Given the description of an element on the screen output the (x, y) to click on. 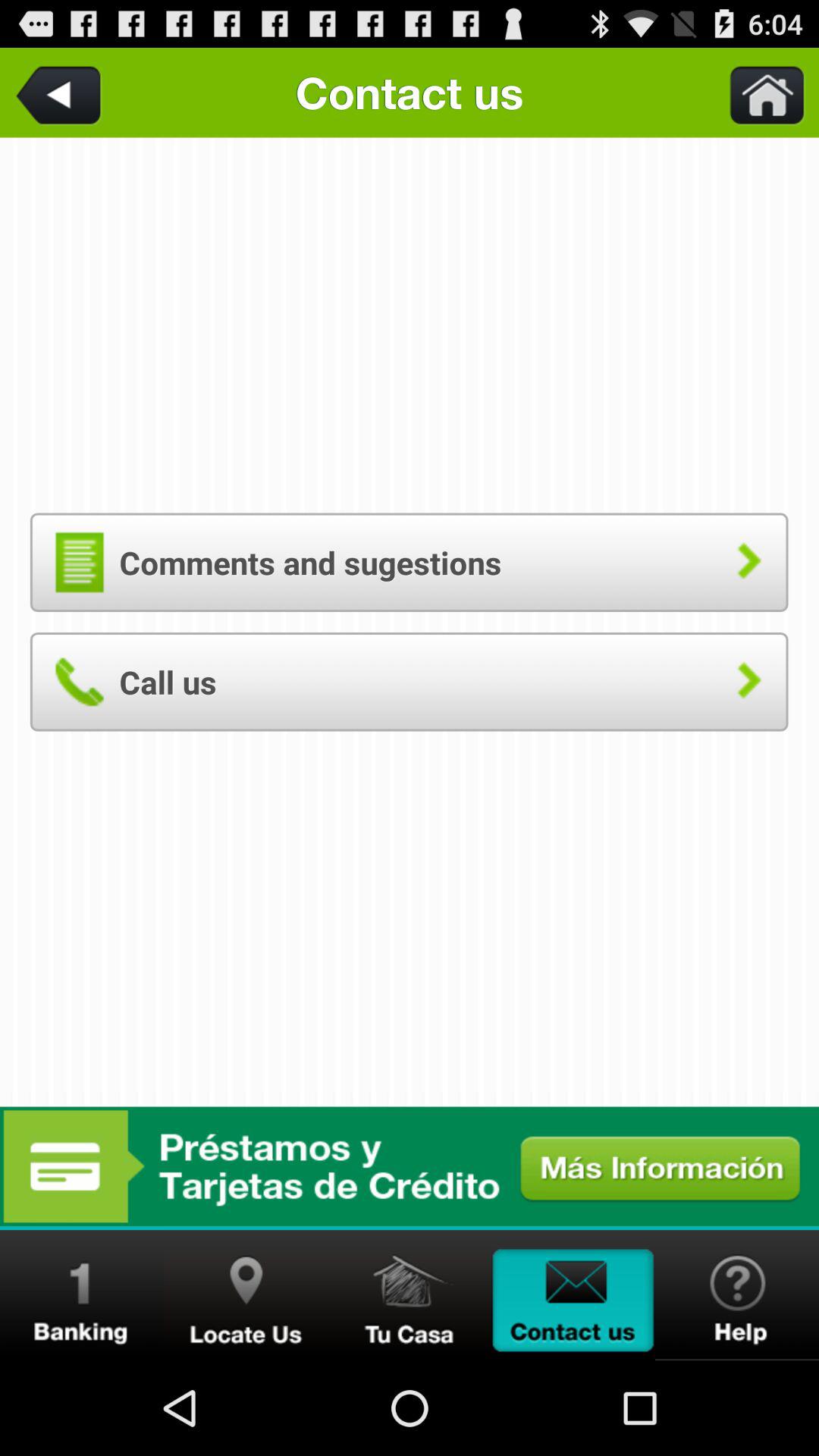
open the button above the comments and sugestions icon (757, 92)
